Given the description of an element on the screen output the (x, y) to click on. 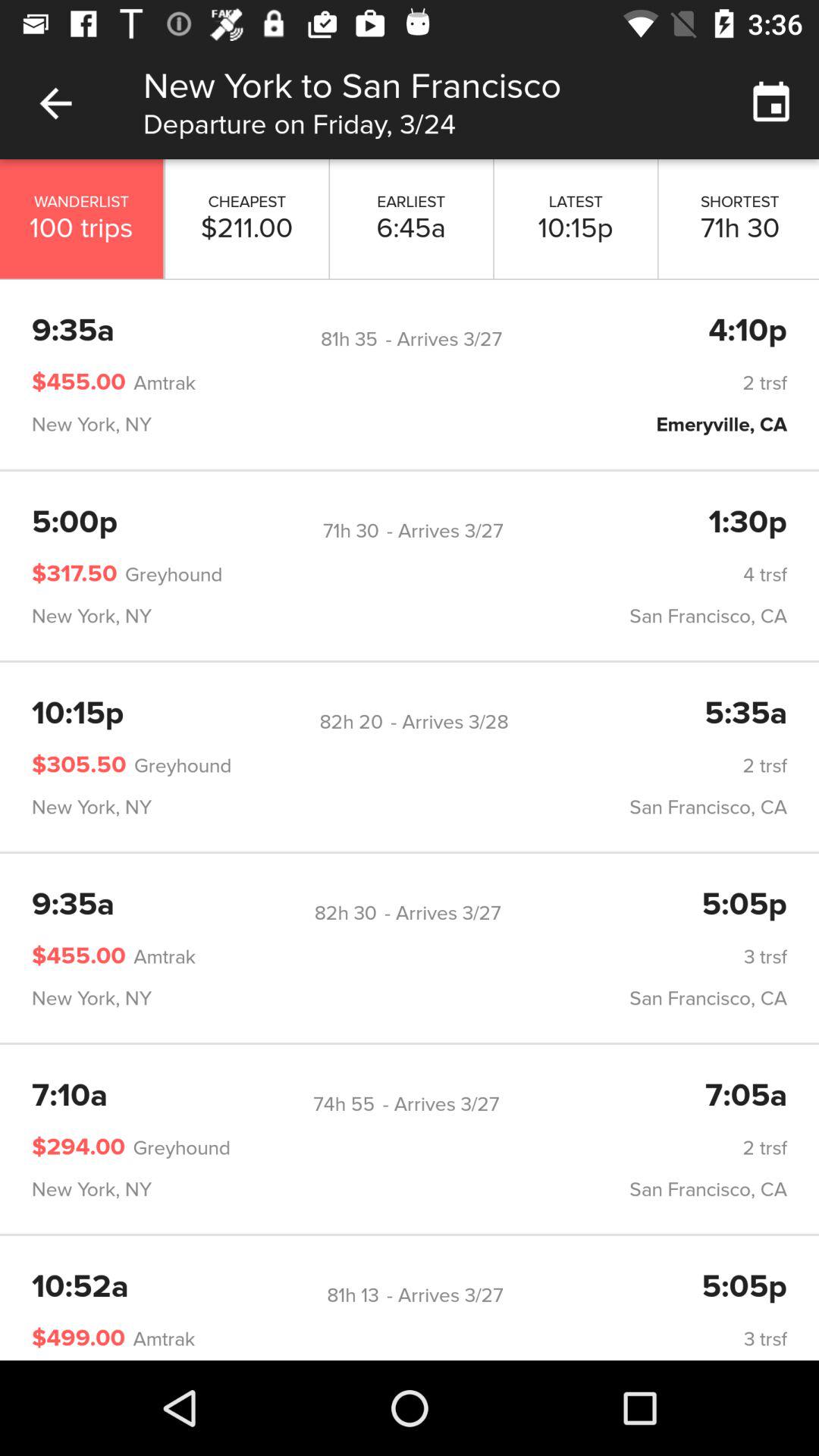
select 1:30p icon (747, 523)
